Given the description of an element on the screen output the (x, y) to click on. 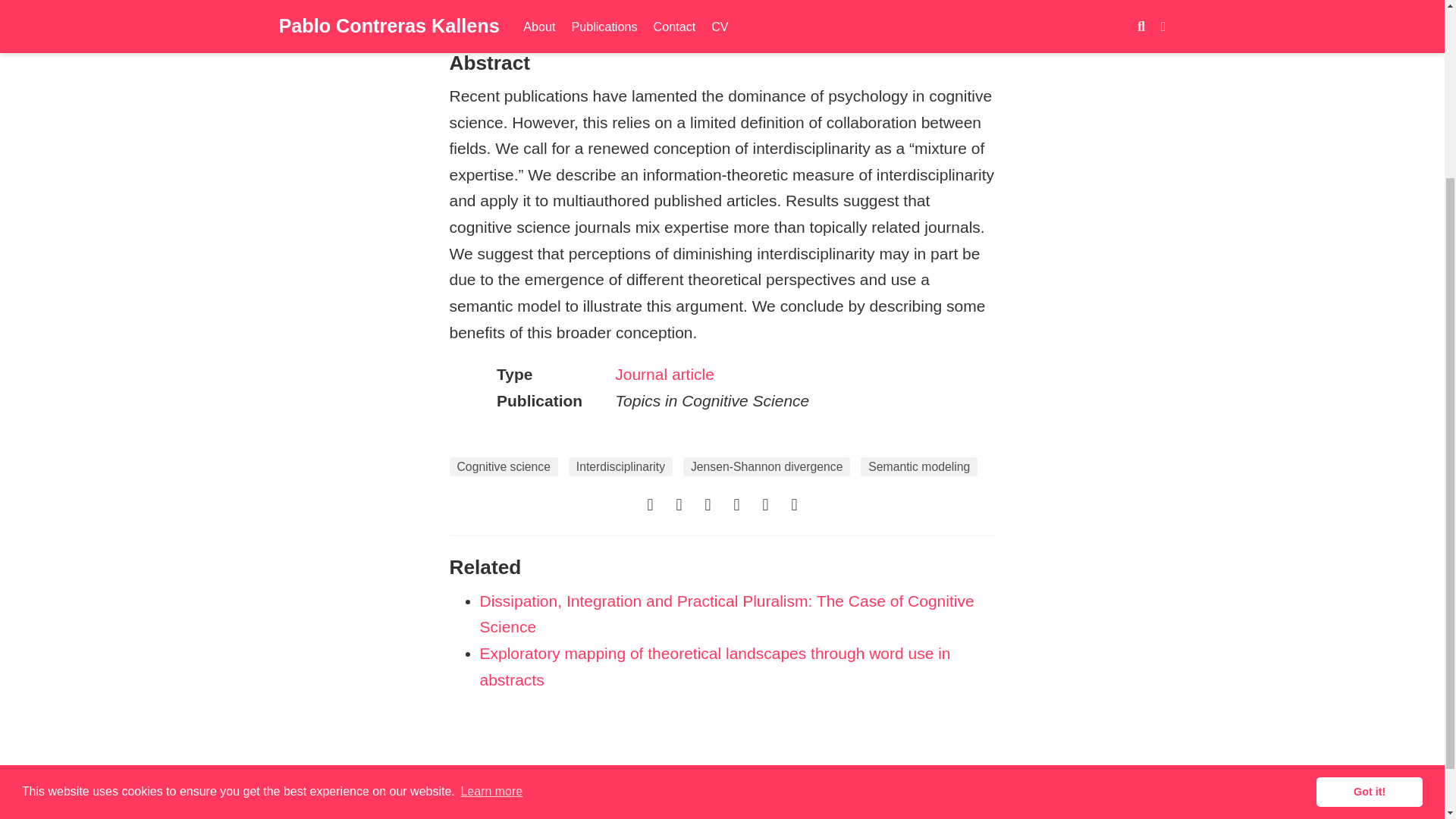
PDF (470, 11)
Jensen-Shannon divergence (766, 466)
Got it! (1369, 559)
Interdisciplinarity (620, 466)
Semantic modeling (918, 466)
DOI (568, 11)
Journal article (664, 374)
Cite (520, 11)
Cognitive science (502, 466)
